Given the description of an element on the screen output the (x, y) to click on. 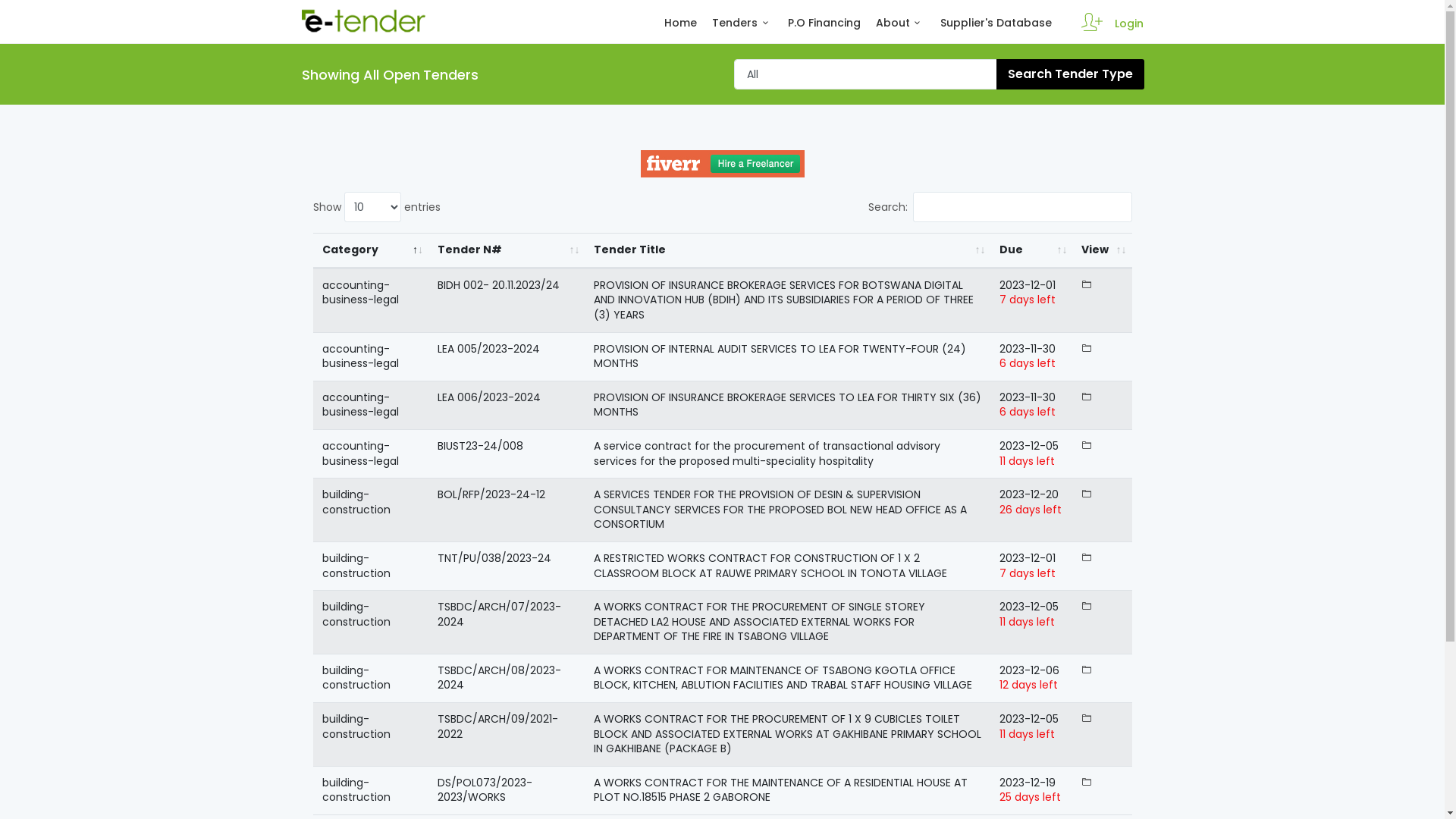
Supplier's Database Element type: text (995, 29)
Tenders Element type: text (742, 29)
e-tender Element type: hover (363, 20)
Login Element type: text (1128, 23)
About Element type: text (900, 29)
P.O Financing Element type: text (823, 29)
Search Tender Type Element type: text (1070, 74)
Home Element type: text (680, 29)
